Given the description of an element on the screen output the (x, y) to click on. 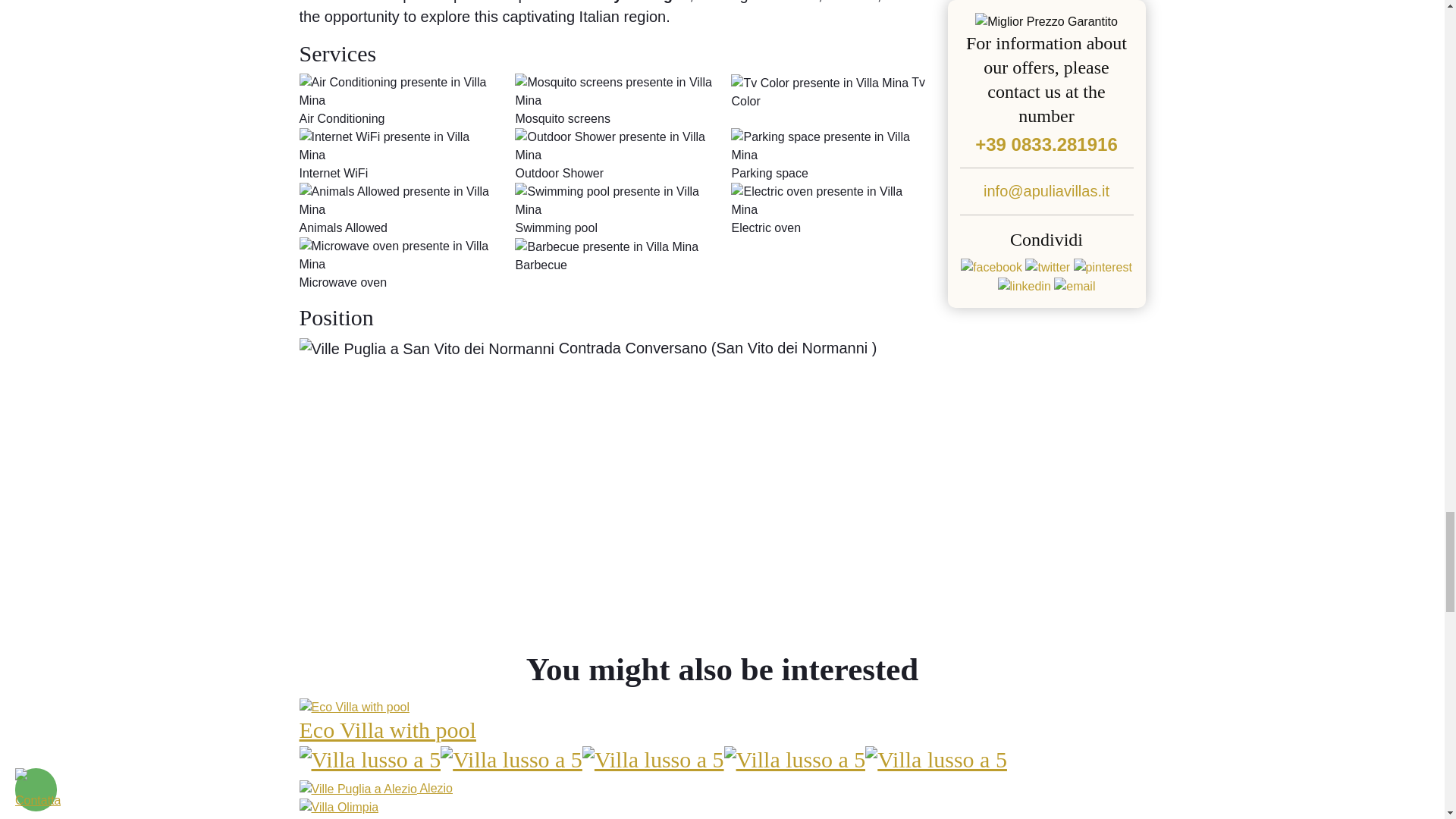
Eco Villa with pool Alezio (721, 747)
